Given the description of an element on the screen output the (x, y) to click on. 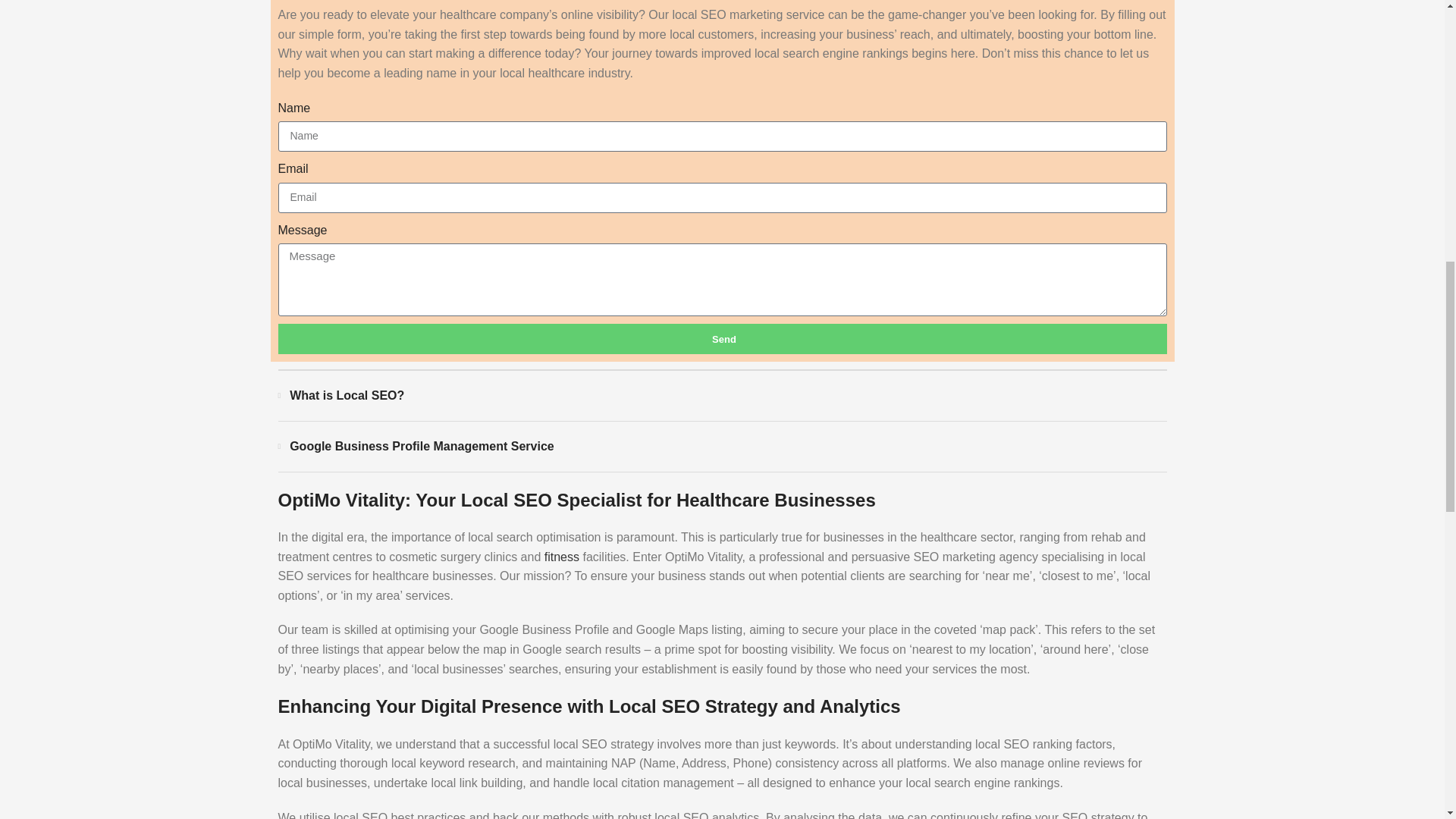
fitness (561, 556)
